Given the description of an element on the screen output the (x, y) to click on. 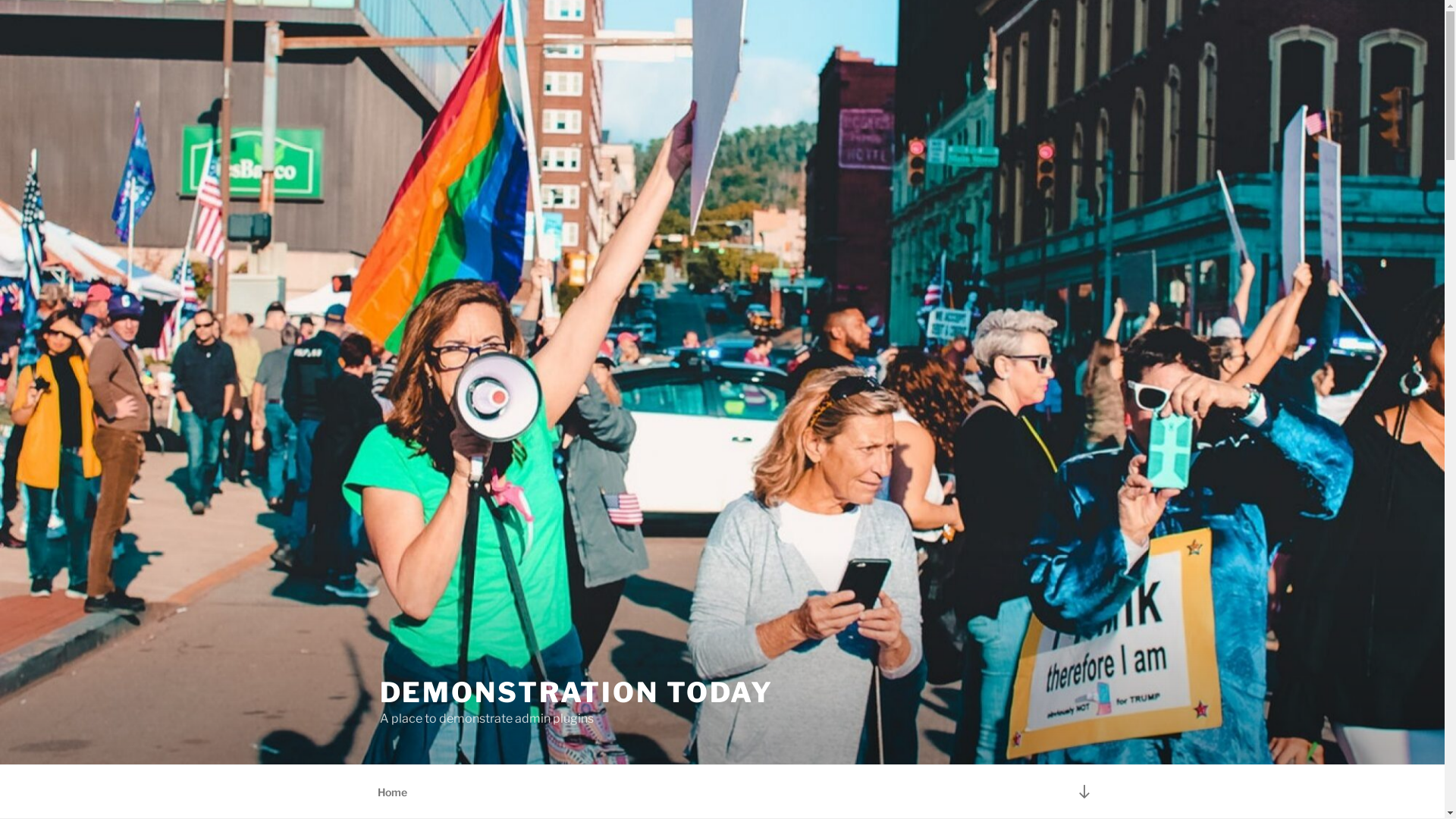
DEMONSTRATION TODAY Element type: text (576, 692)
Scroll down to content Element type: text (1083, 790)
Home Element type: text (392, 791)
